Given the description of an element on the screen output the (x, y) to click on. 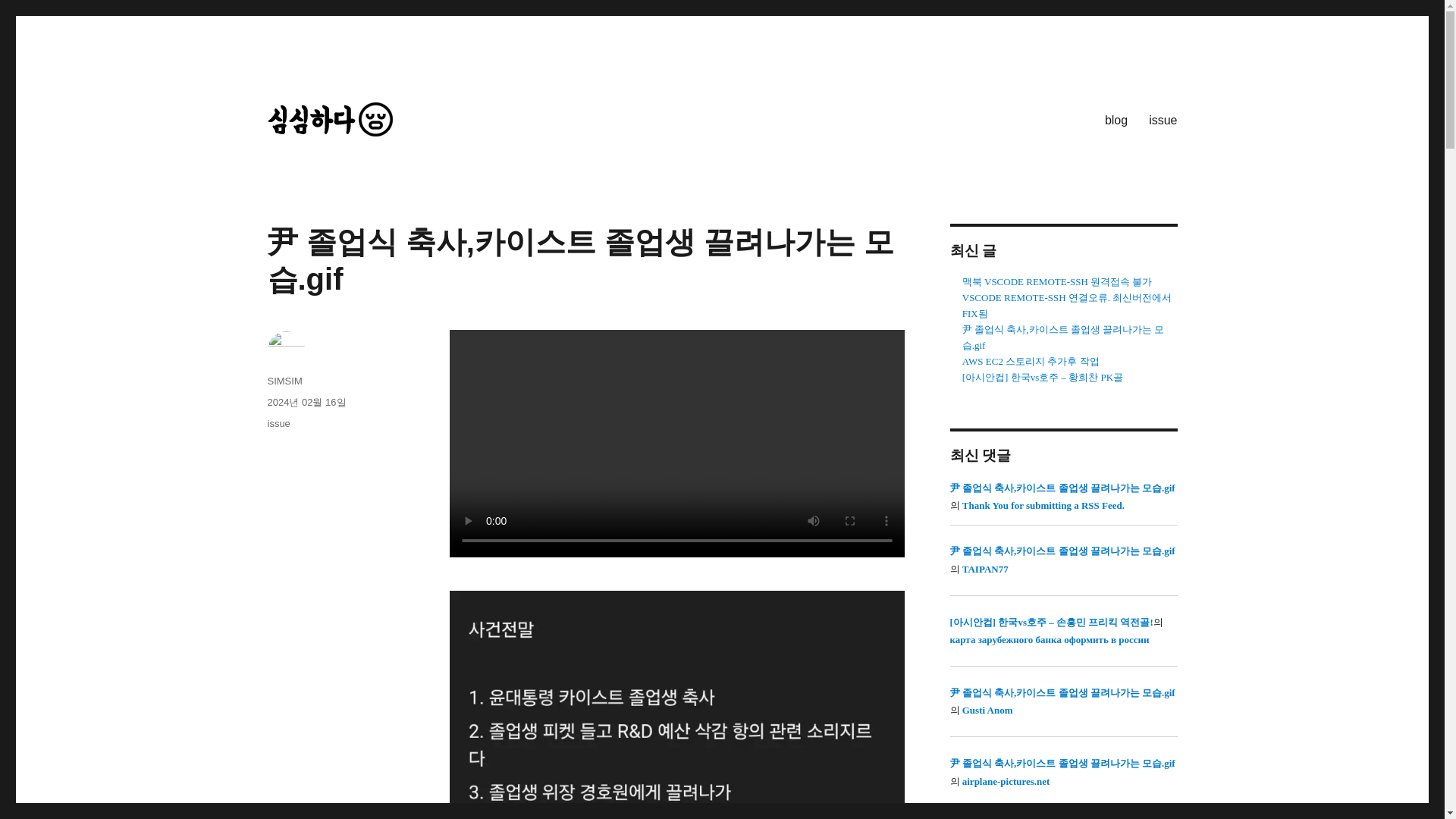
blog (1116, 119)
issue (1163, 119)
SIMSIM (283, 380)
issue (277, 423)
